Given the description of an element on the screen output the (x, y) to click on. 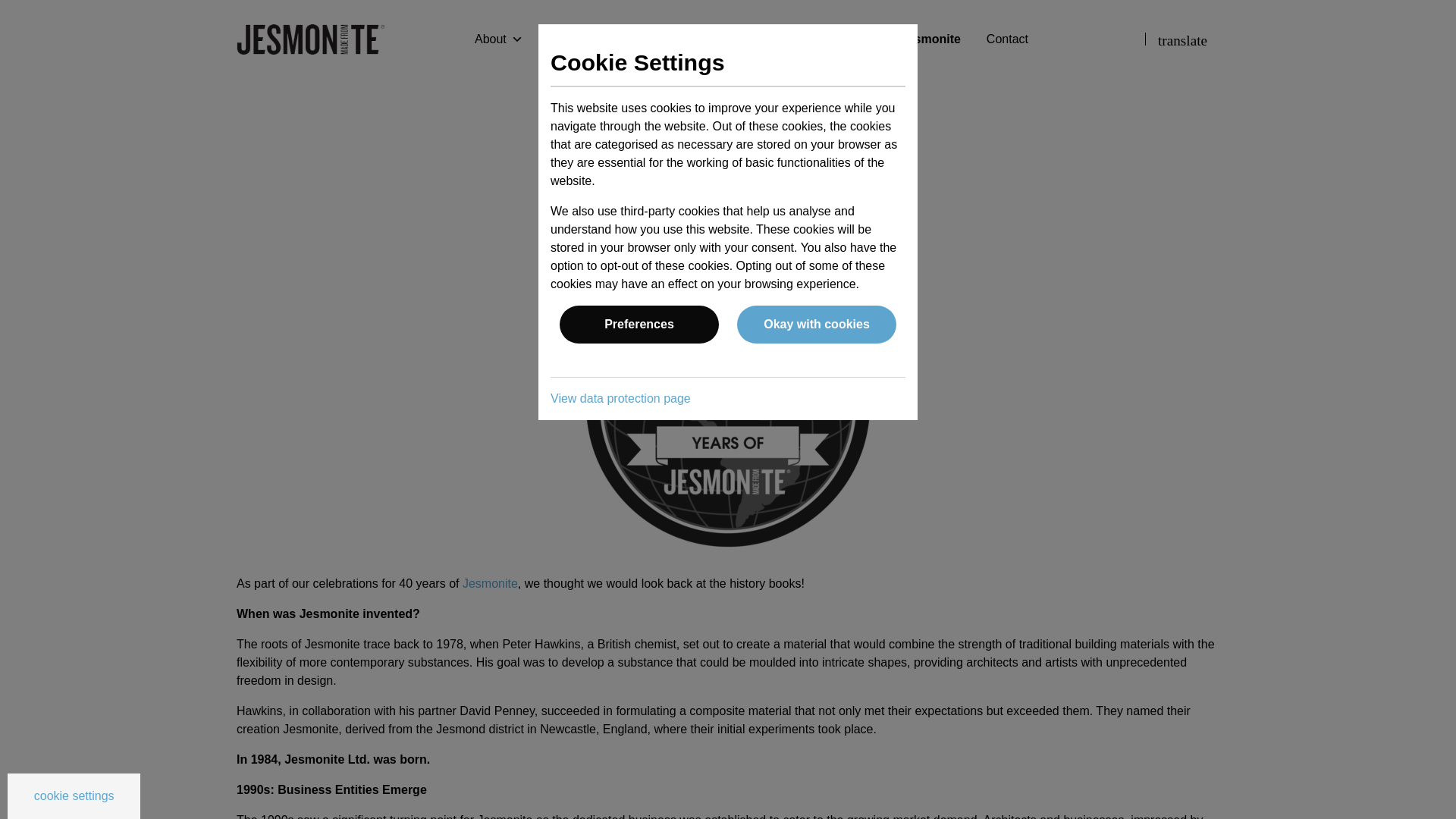
Translate (1182, 38)
Contact (1007, 39)
Be a Distributor (806, 39)
Blogs (724, 39)
Jesmonite (310, 39)
Products (580, 39)
translate (1182, 38)
About (498, 39)
Projects (660, 39)
Buy Jesmonite (917, 39)
